Given the description of an element on the screen output the (x, y) to click on. 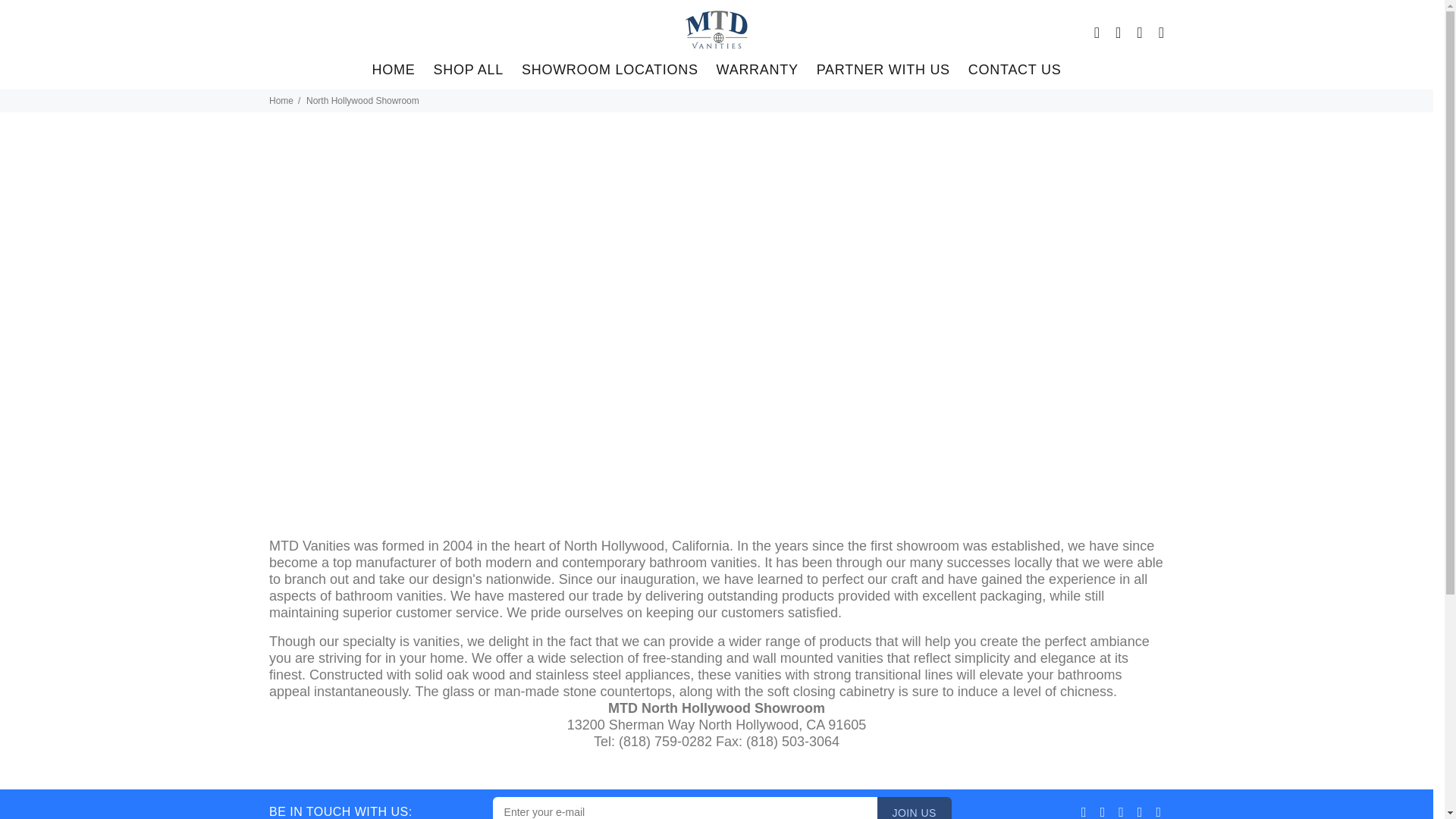
WARRANTY (757, 72)
JOIN US (914, 807)
PARTNER WITH US (883, 72)
CONTACT US (1010, 72)
HOME (393, 72)
SHOP ALL (467, 72)
Home (281, 100)
SHOWROOM LOCATIONS (609, 72)
